Given the description of an element on the screen output the (x, y) to click on. 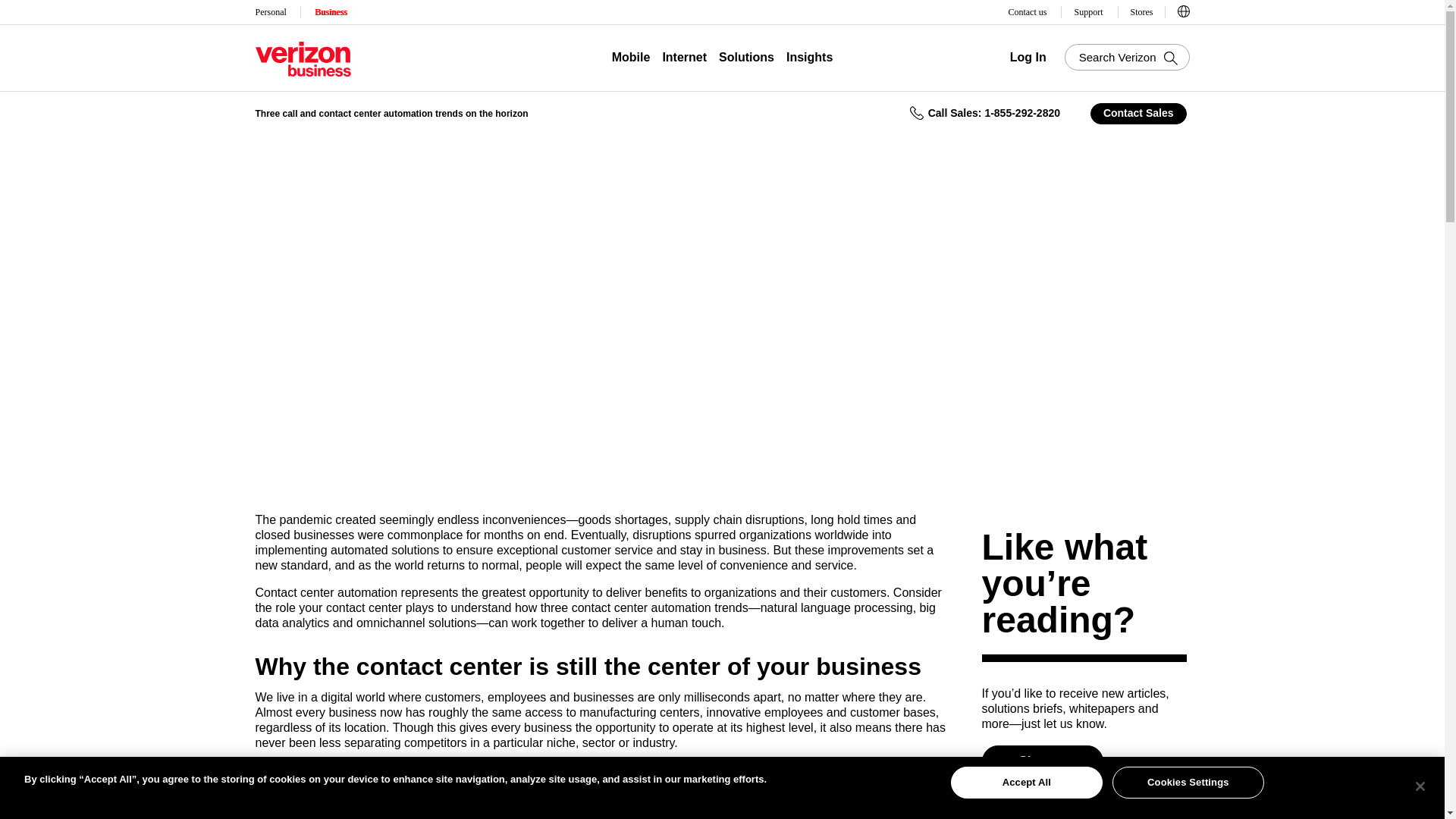
Personal (271, 12)
Mobile (630, 57)
Contact us (1028, 12)
Support (1089, 12)
Stores (1141, 12)
Business (330, 12)
Verizon Business (302, 58)
